Given the description of an element on the screen output the (x, y) to click on. 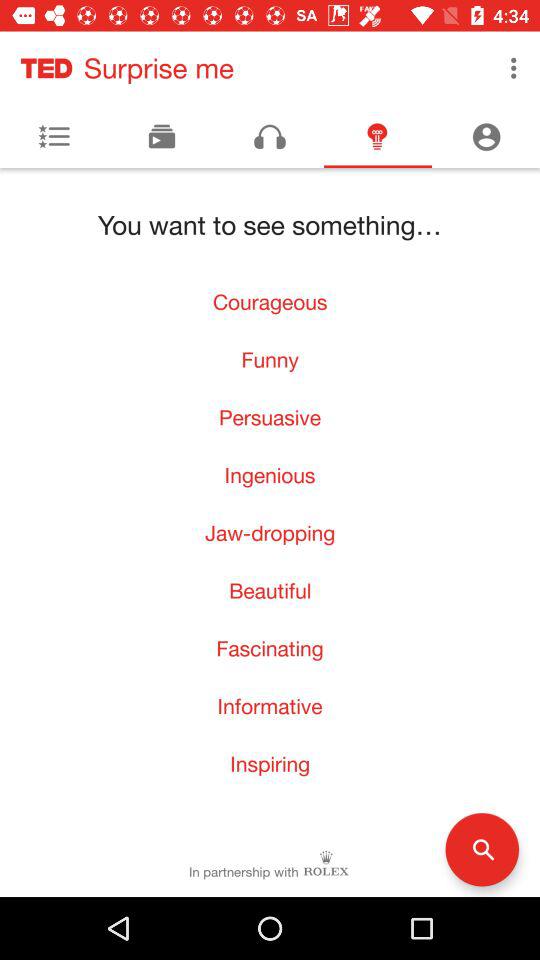
select item below the jaw-dropping (270, 590)
